Given the description of an element on the screen output the (x, y) to click on. 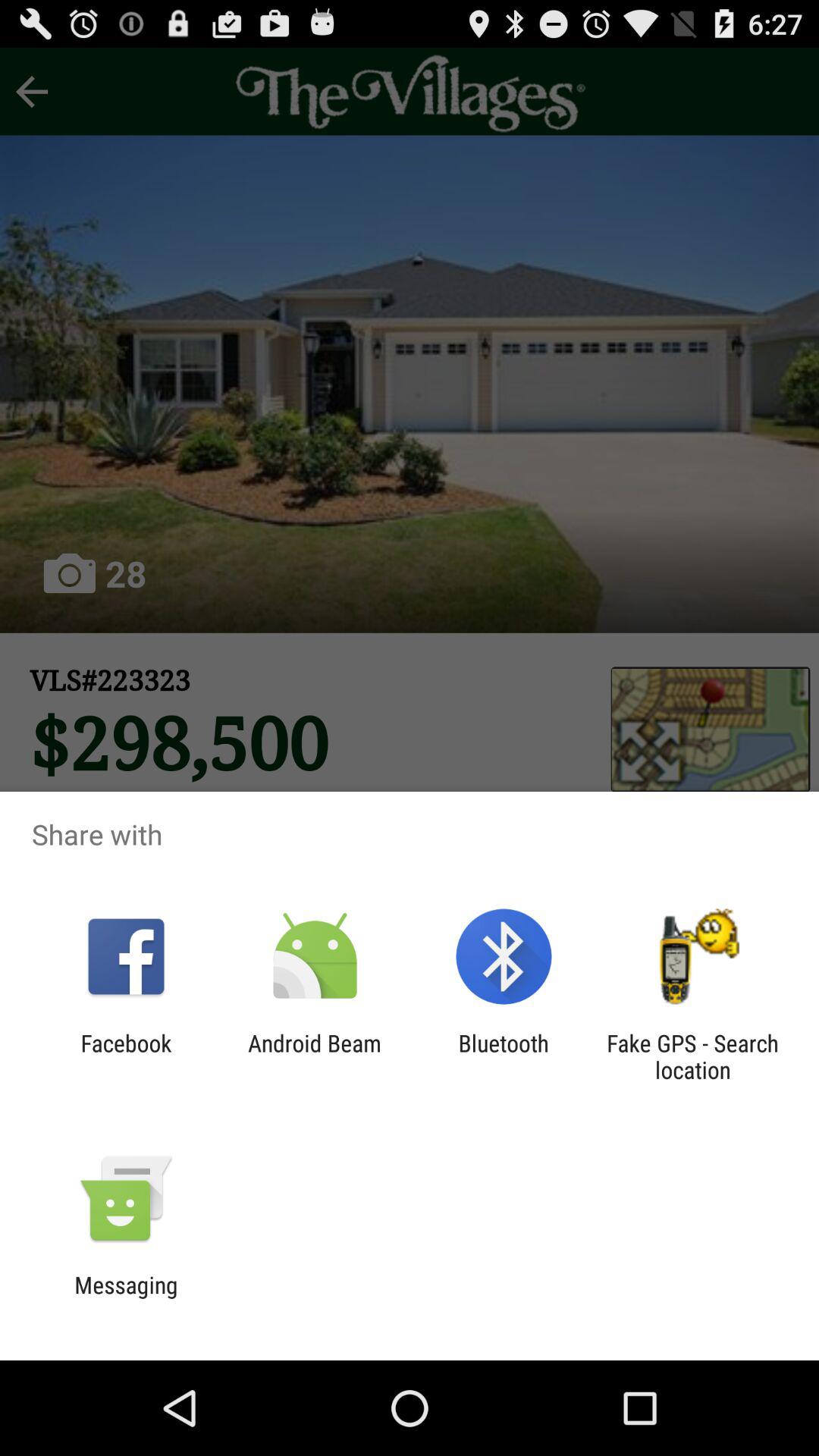
flip to android beam (314, 1056)
